Given the description of an element on the screen output the (x, y) to click on. 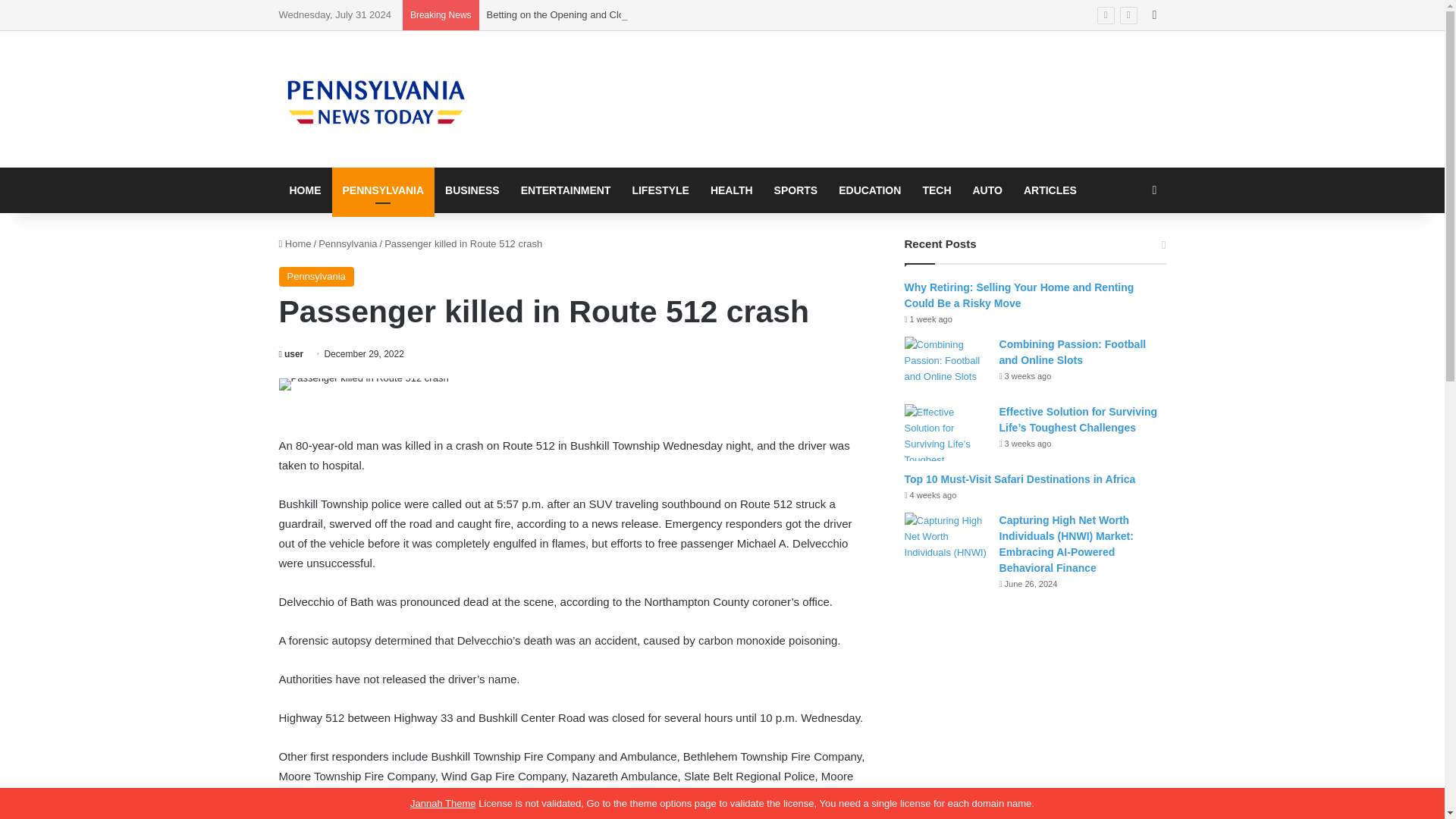
user (291, 353)
Pennsylvanianewstoday.com (377, 99)
EDUCATION (869, 189)
Passenger killed in Route 512 crash (363, 384)
Jannah Theme (443, 803)
user (291, 353)
Home (295, 243)
HOME (305, 189)
ARTICLES (1050, 189)
ENTERTAINMENT (566, 189)
Pennsylvania (347, 243)
BUSINESS (472, 189)
HEALTH (731, 189)
TECH (935, 189)
